Given the description of an element on the screen output the (x, y) to click on. 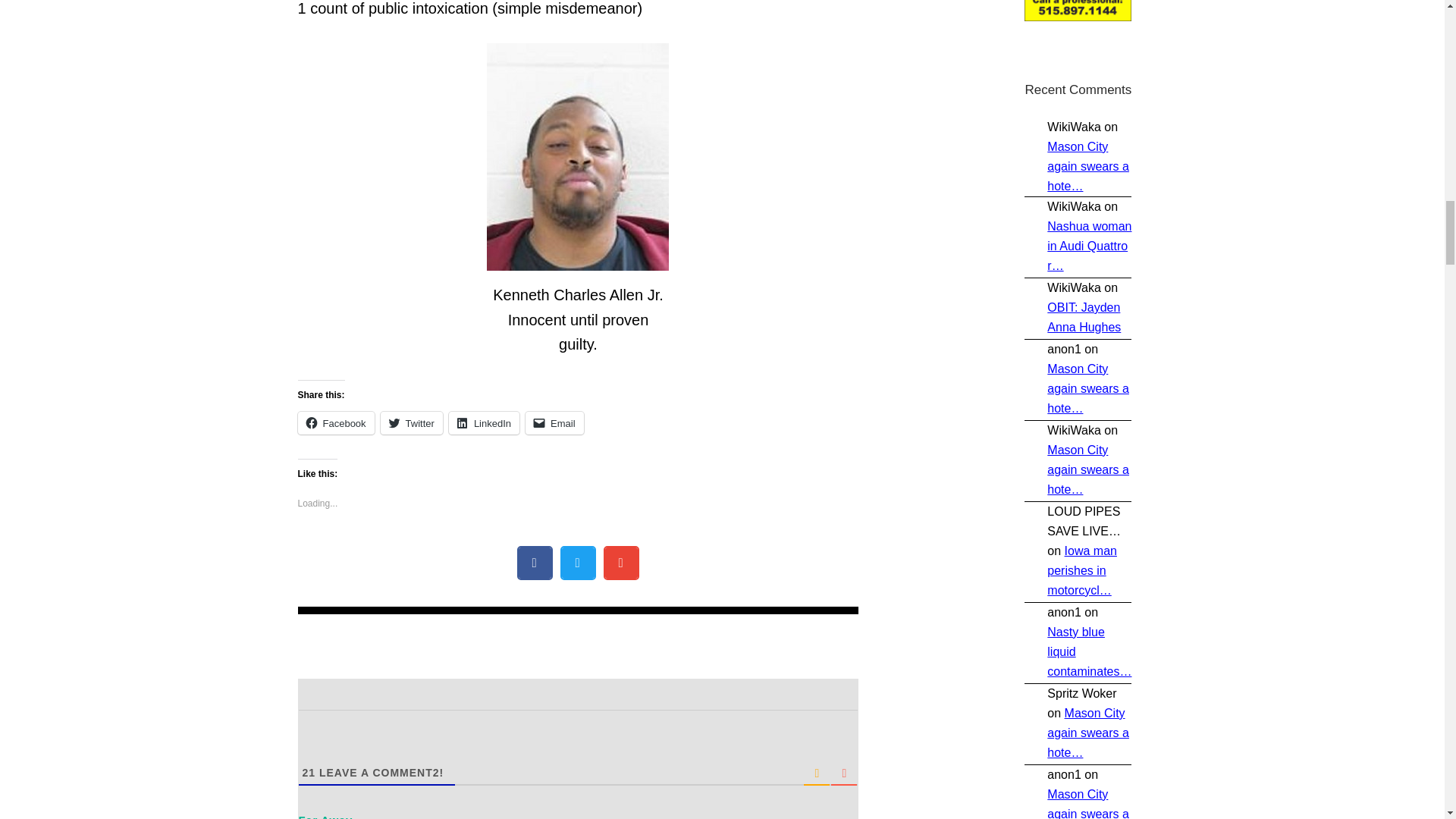
Email (554, 422)
Click to share on LinkedIn (483, 422)
Twitter (411, 422)
Click to email a link to a friend (554, 422)
Facebook (335, 422)
Click to share on Twitter (411, 422)
LinkedIn (483, 422)
Click to share on Facebook (335, 422)
